Given the description of an element on the screen output the (x, y) to click on. 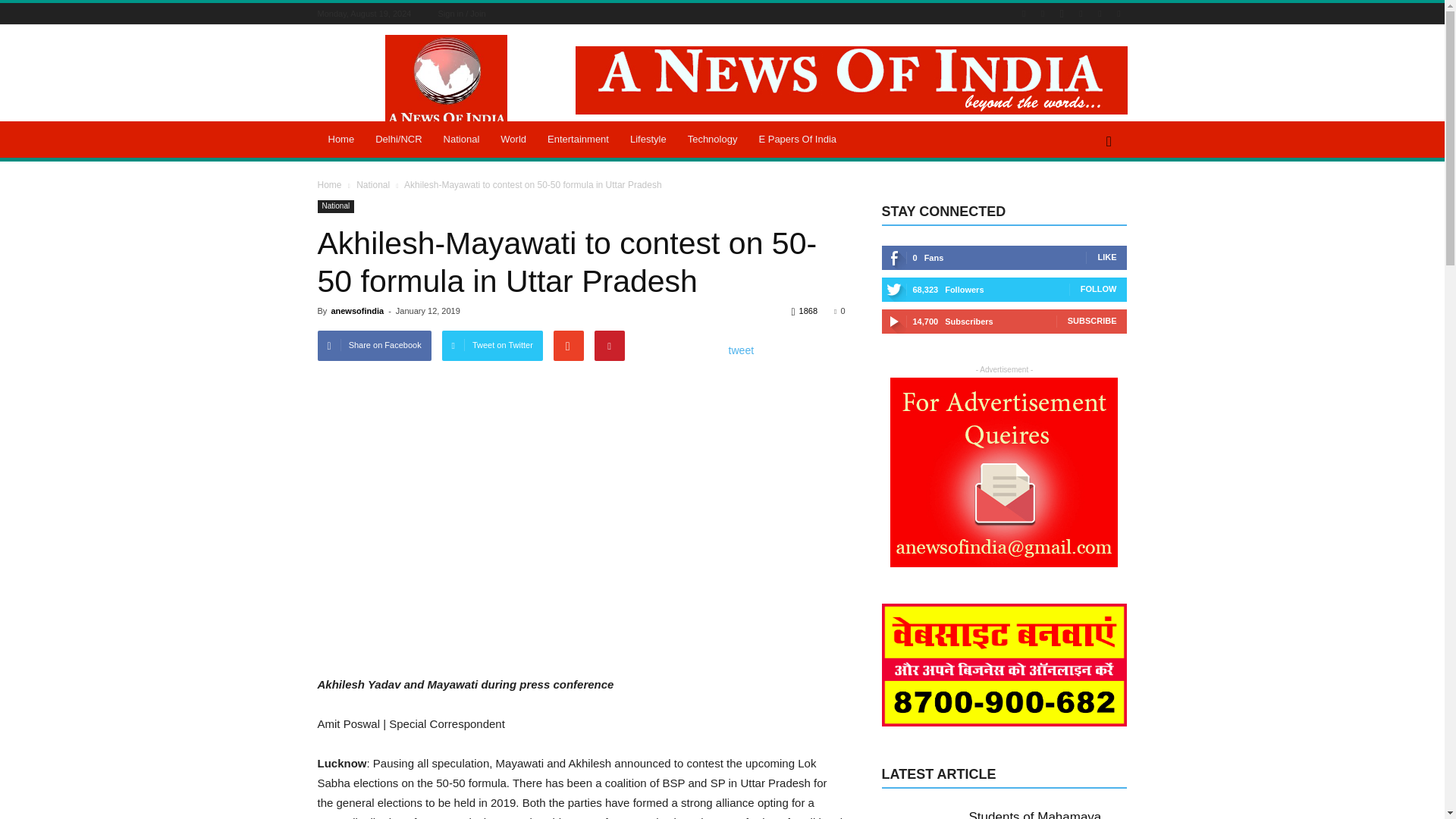
Home (341, 139)
Entertainment (578, 139)
National (461, 139)
View all posts in National (373, 184)
World (513, 139)
